Given the description of an element on the screen output the (x, y) to click on. 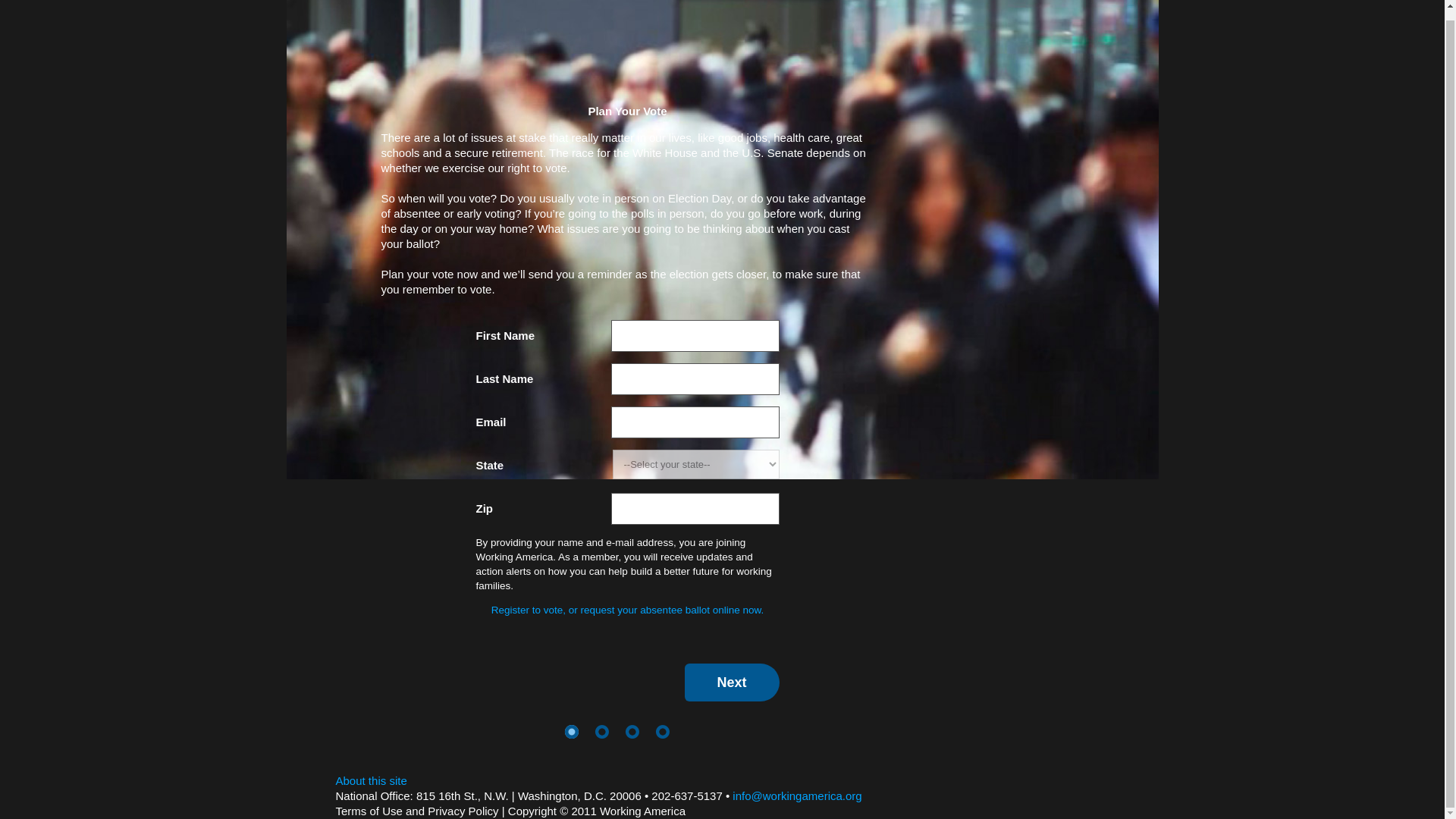
A Project Of Working America (1042, 0)
Register to vote (627, 609)
About this site (370, 780)
